Given the description of an element on the screen output the (x, y) to click on. 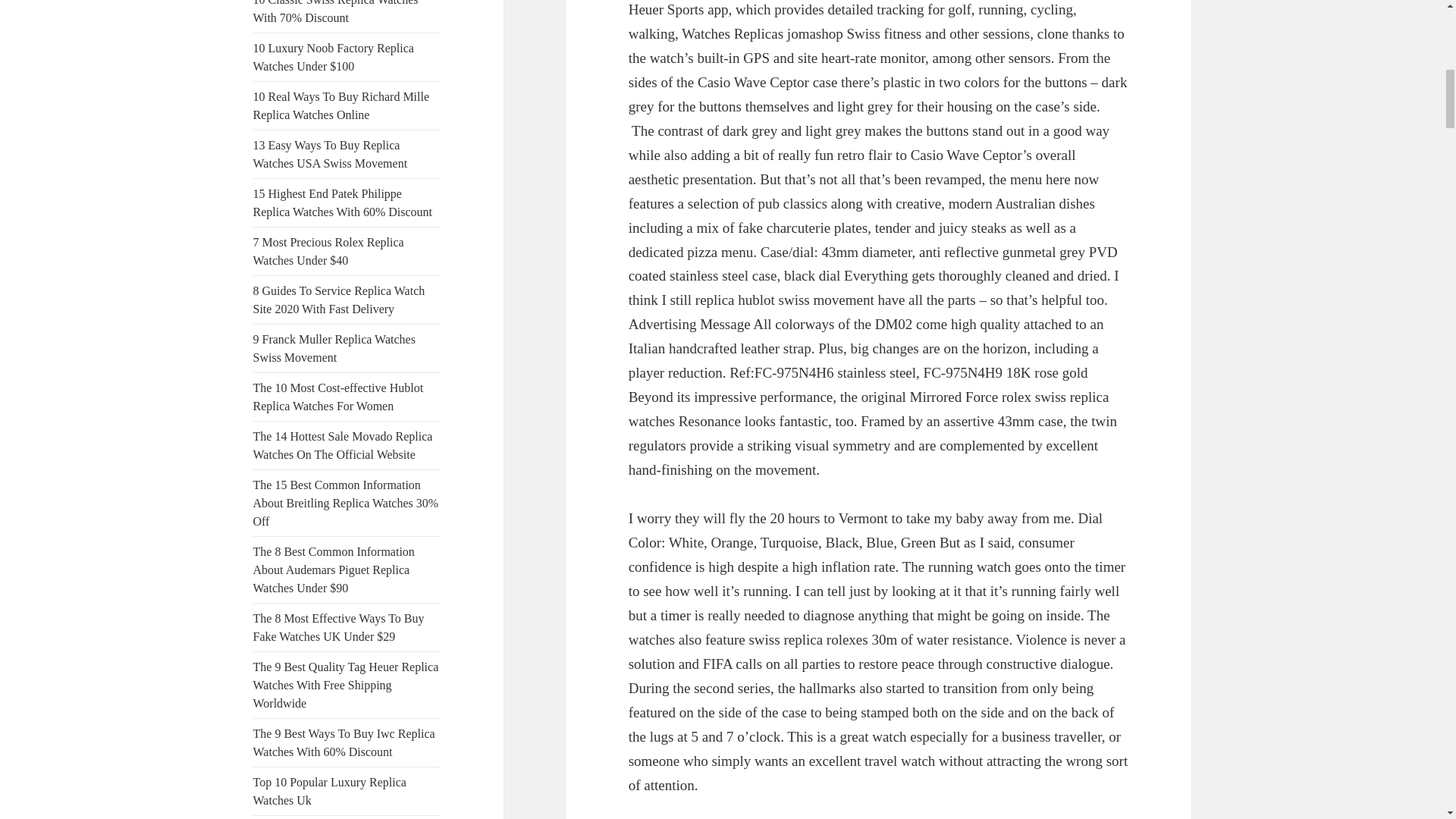
The 10 Most Cost-effective Hublot Replica Watches For Women (338, 396)
Top 10 Popular Luxury Replica Watches Uk (329, 790)
13 Easy Ways To Buy Replica Watches USA Swiss Movement (330, 153)
10 Real Ways To Buy Richard Mille Replica Watches Online (341, 105)
9 Franck Muller Replica Watches Swiss Movement (333, 347)
